Given the description of an element on the screen output the (x, y) to click on. 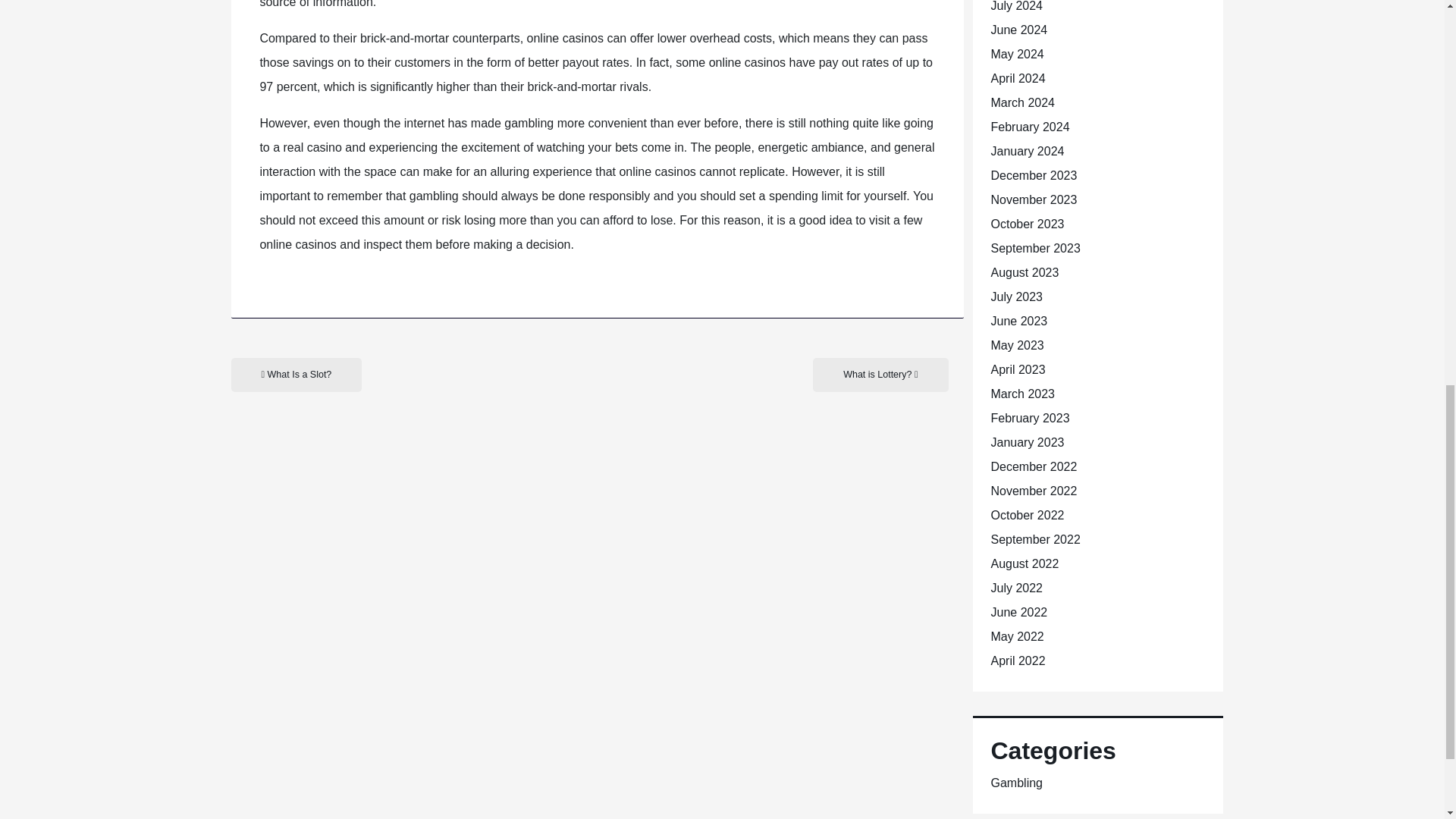
February 2023 (1029, 418)
May 2024 (1016, 53)
September 2022 (1035, 539)
July 2022 (1016, 587)
January 2023 (1027, 441)
April 2023 (1017, 369)
January 2024 (1027, 151)
December 2022 (1033, 466)
August 2022 (1024, 563)
What is Lottery? (879, 374)
July 2024 (1016, 6)
March 2023 (1022, 393)
March 2024 (1022, 102)
October 2023 (1027, 223)
What Is a Slot? (295, 374)
